Given the description of an element on the screen output the (x, y) to click on. 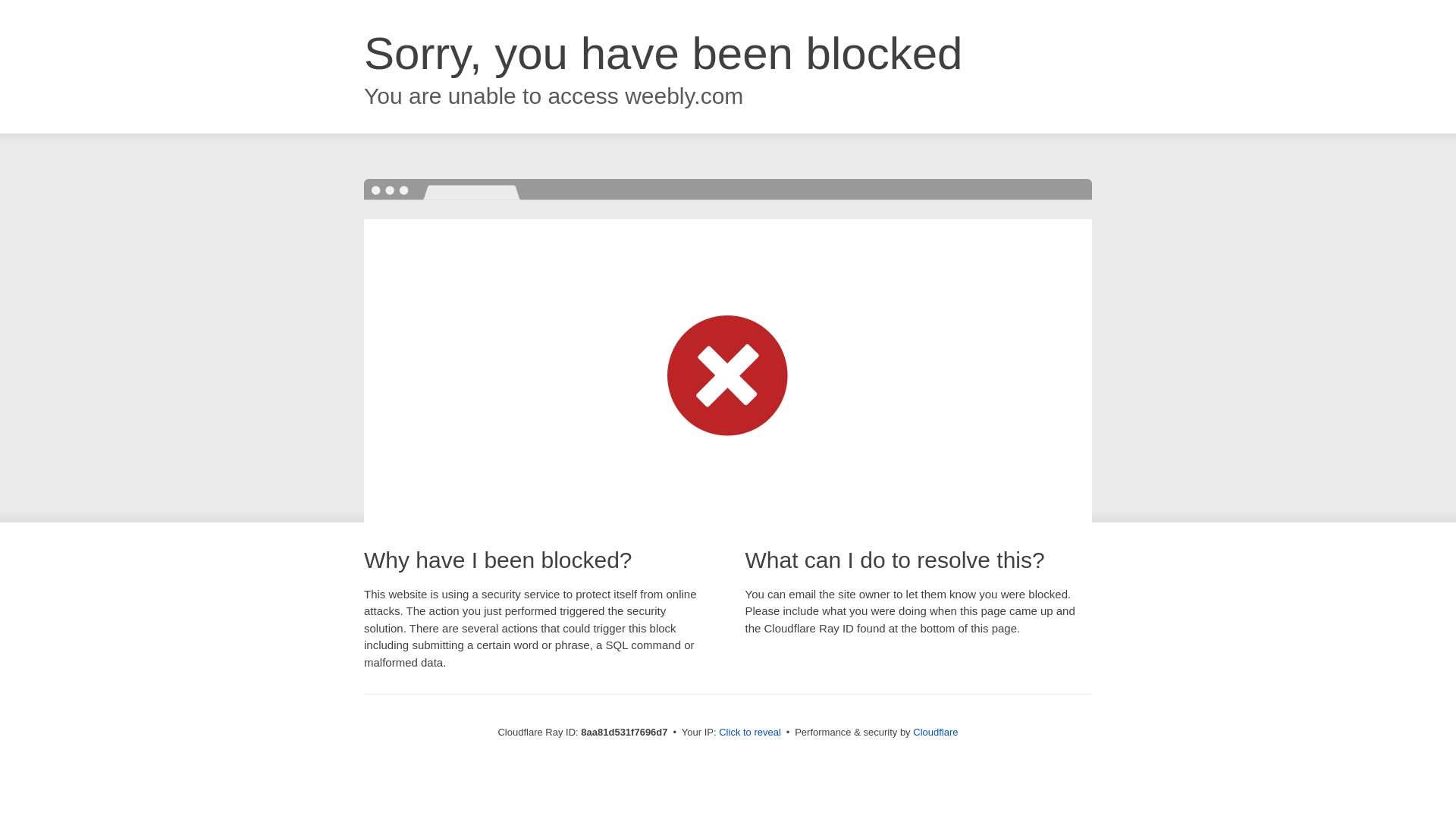
Cloudflare (935, 731)
Click to reveal (749, 732)
